Given the description of an element on the screen output the (x, y) to click on. 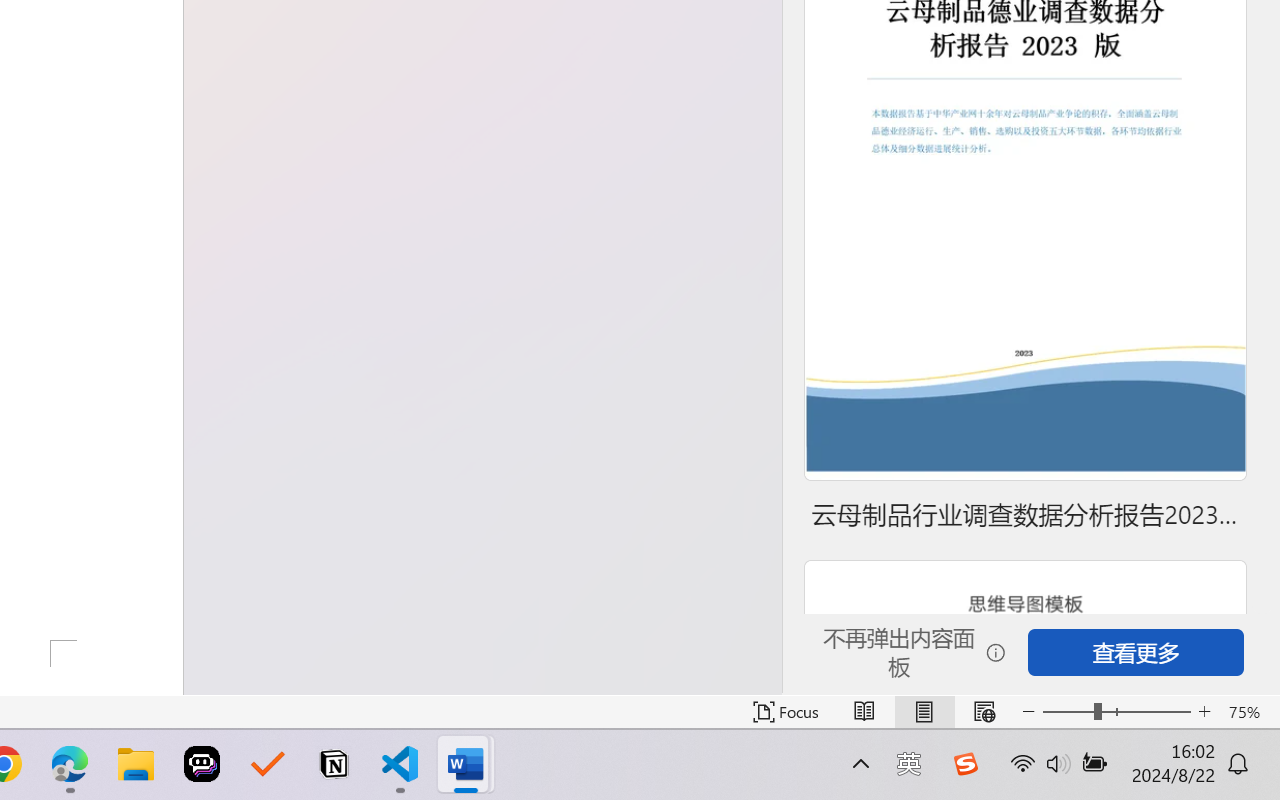
Zoom (1116, 712)
Print Layout (924, 712)
Focus  (786, 712)
Zoom In (1204, 712)
Zoom Out (1067, 712)
Read Mode (864, 712)
Web Layout (984, 712)
